Given the description of an element on the screen output the (x, y) to click on. 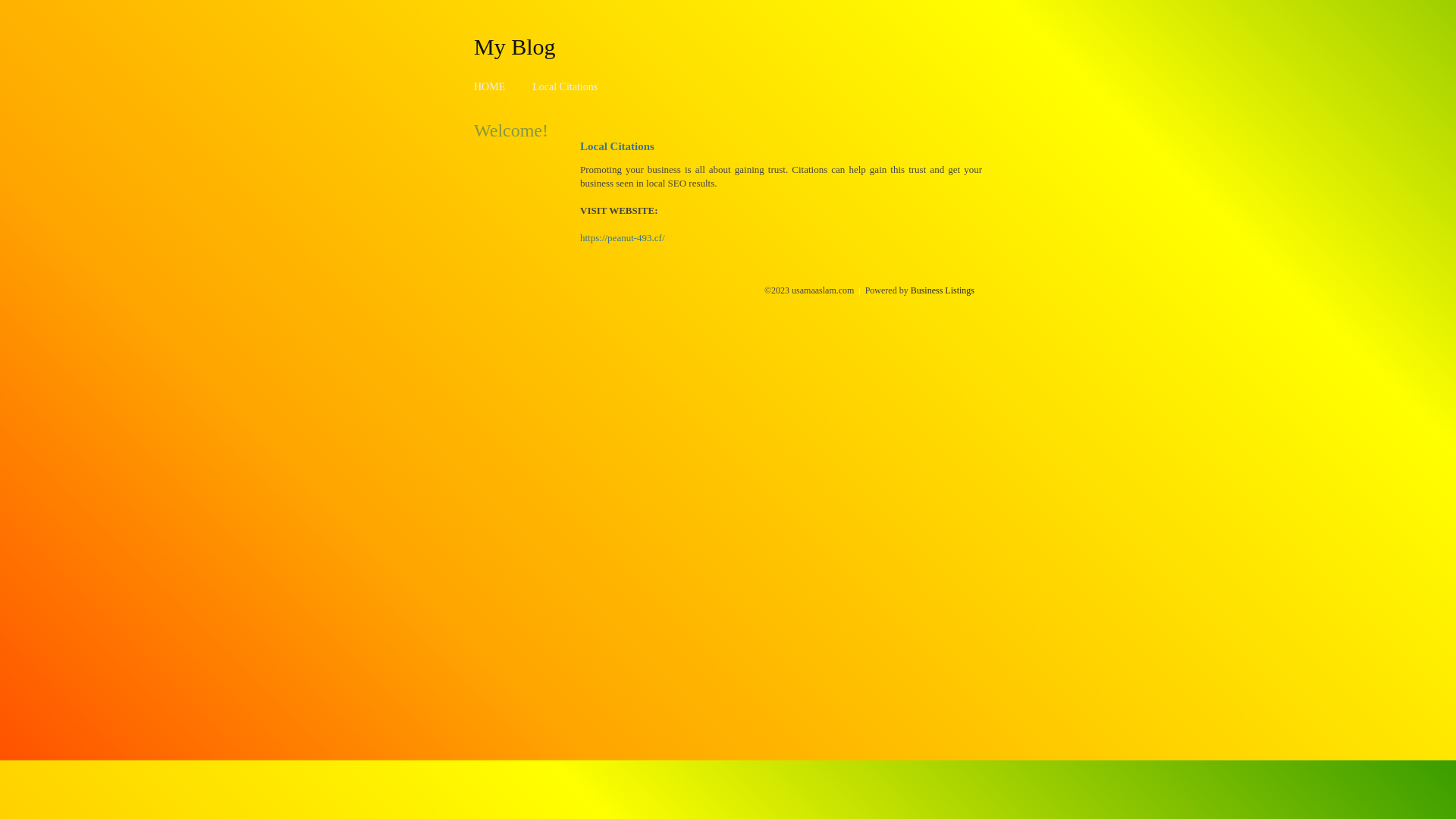
Local Citations Element type: text (564, 86)
My Blog Element type: text (514, 46)
https://peanut-493.cf/ Element type: text (622, 237)
HOME Element type: text (489, 86)
Business Listings Element type: text (942, 290)
